Given the description of an element on the screen output the (x, y) to click on. 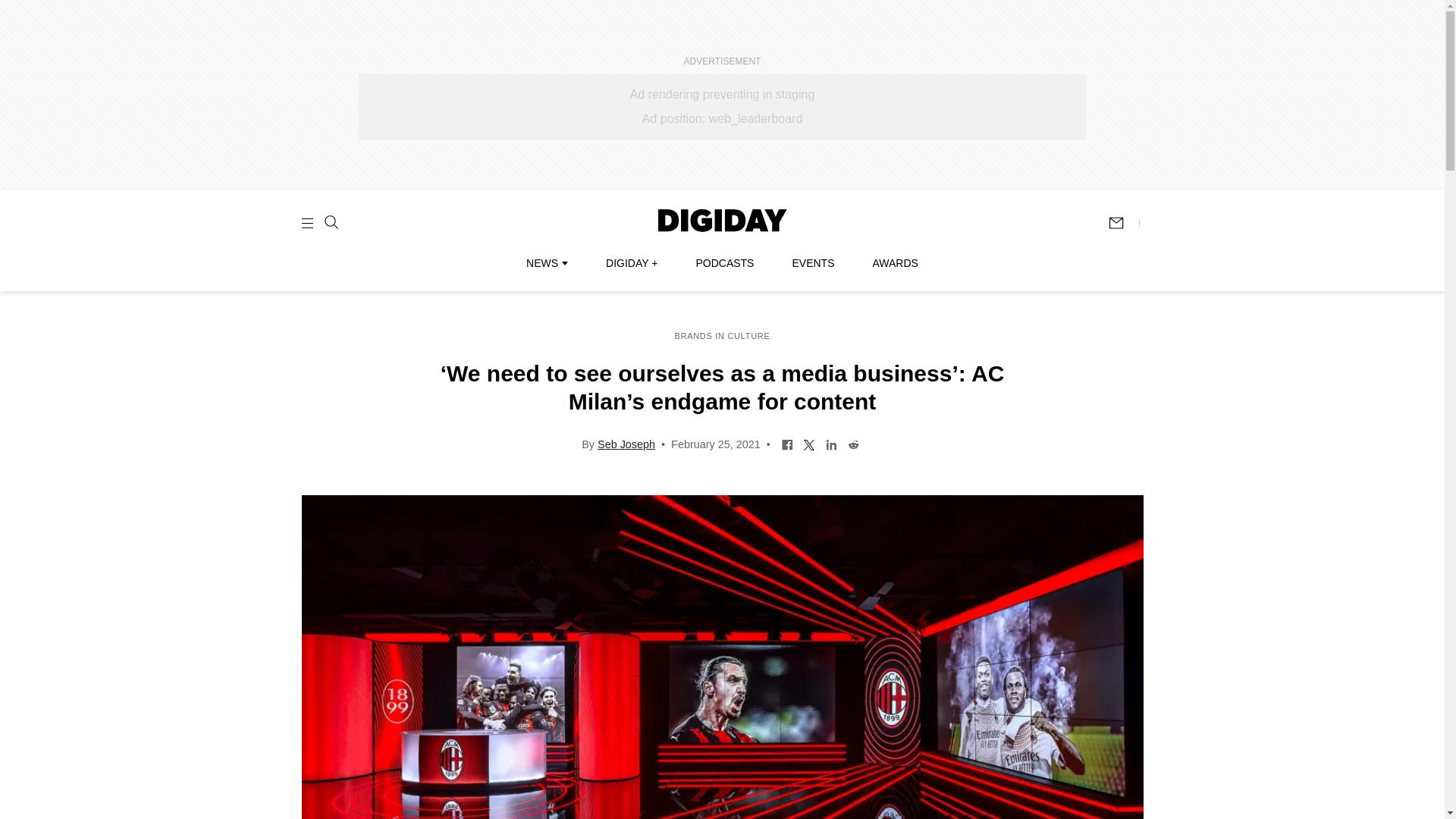
Share on LinkedIn (831, 443)
EVENTS (813, 262)
Subscribe (1123, 223)
PODCASTS (725, 262)
NEWS (546, 262)
Share on Facebook (786, 443)
AWARDS (894, 262)
Share on Twitter (809, 443)
Share on Reddit (853, 443)
